Given the description of an element on the screen output the (x, y) to click on. 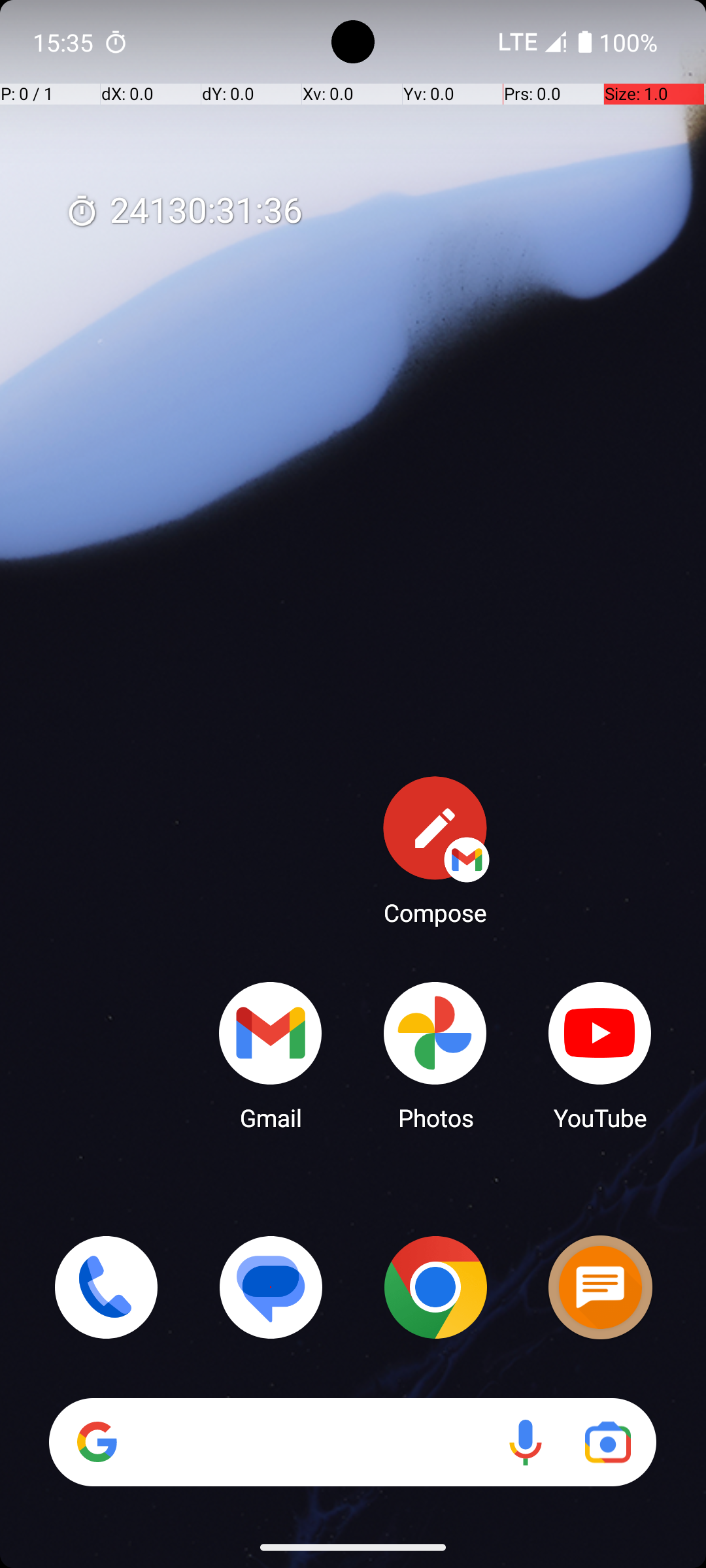
24130:31:36 Element type: android.widget.TextView (183, 210)
